Given the description of an element on the screen output the (x, y) to click on. 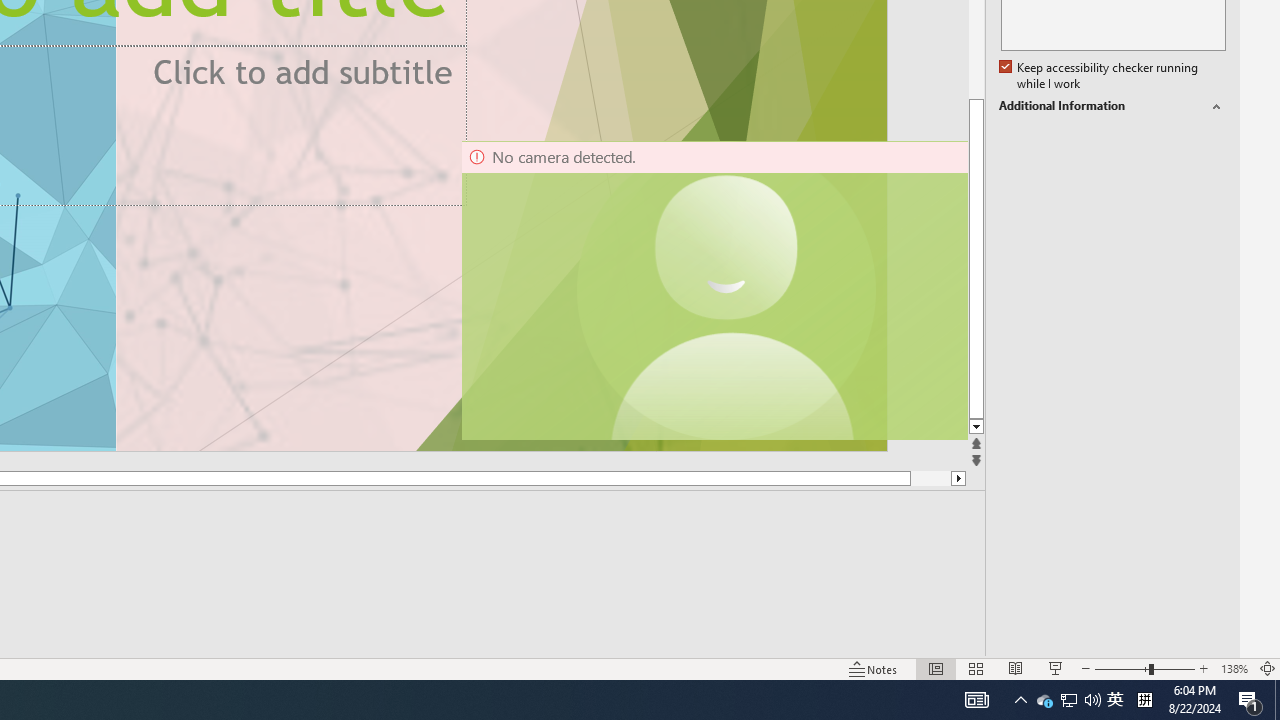
Camera 11, No camera detected. (727, 290)
Zoom 138% (1234, 668)
